Given the description of an element on the screen output the (x, y) to click on. 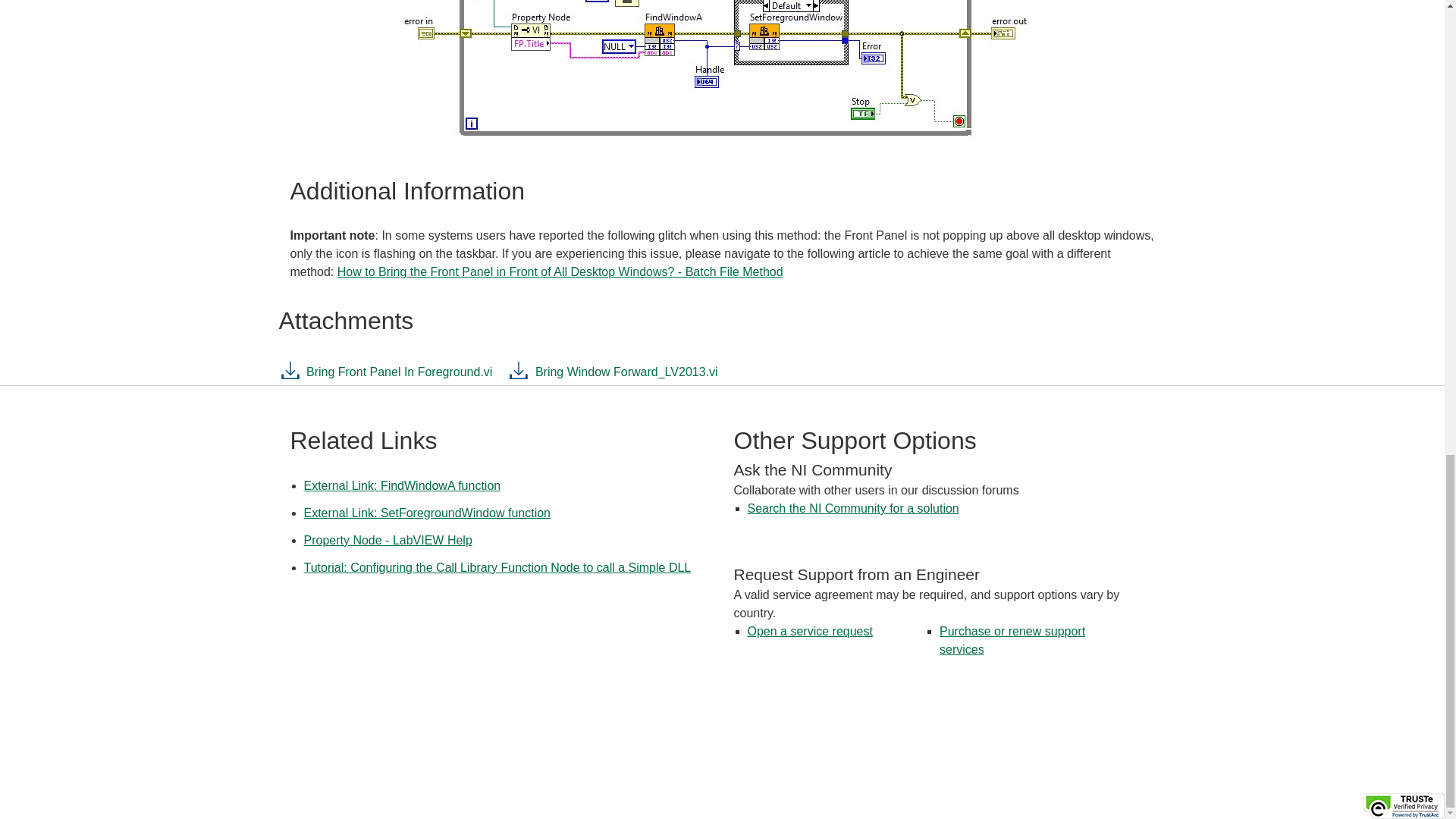
External Link: SetForegroundWindow function (426, 512)
Search the NI Community for a solution (853, 508)
Open a service request (810, 631)
Purchase or renew support services (1011, 640)
External Link: FindWindowA function (401, 485)
Property Node - LabVIEW Help (386, 540)
Bring Front Panel In Foreground.vi (386, 375)
